Given the description of an element on the screen output the (x, y) to click on. 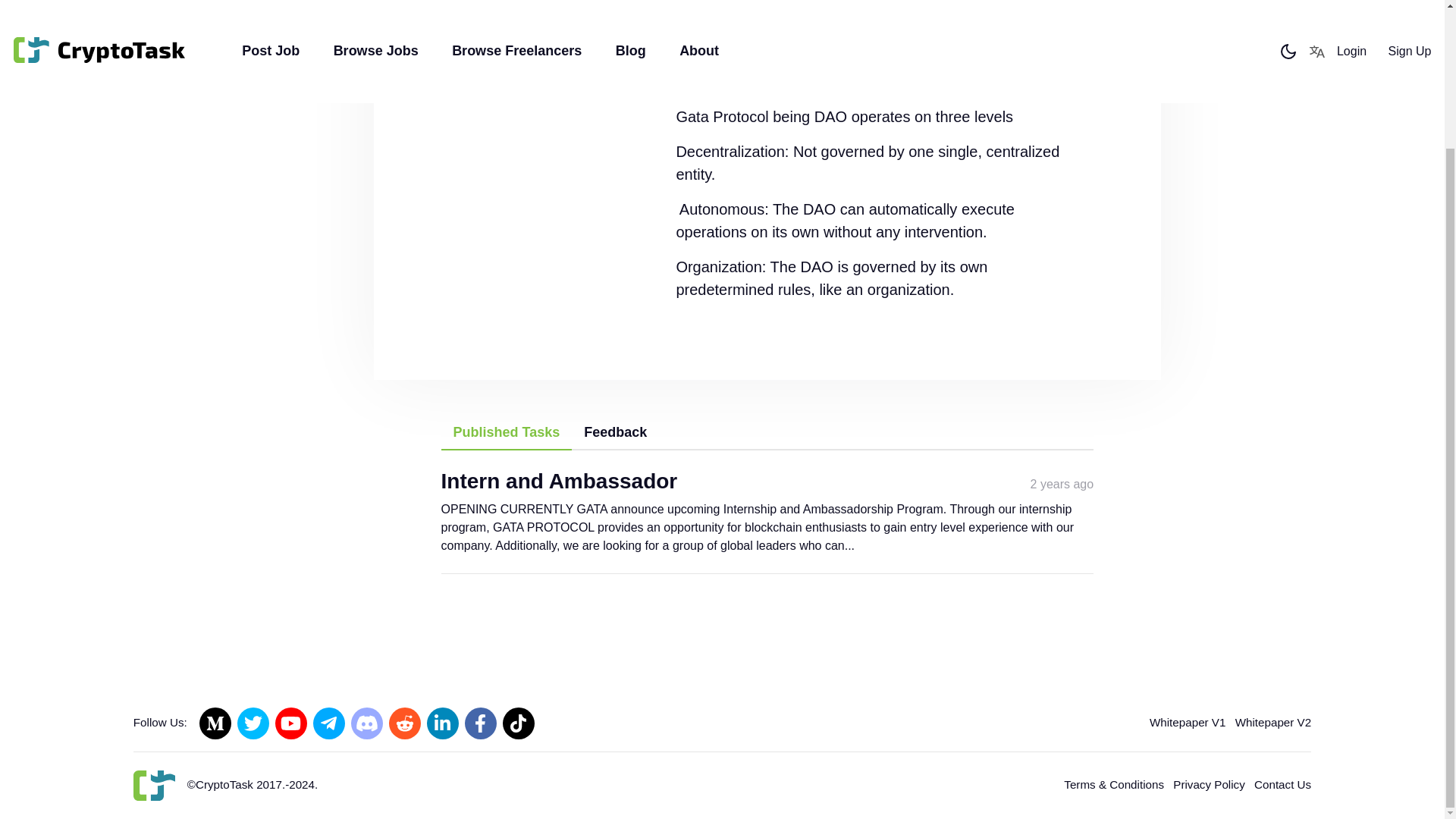
Tiktok (518, 723)
Intern and Ambassador (559, 481)
Telegram (329, 723)
Feedback (615, 432)
Privacy Policy (1208, 784)
Contact Us (1282, 784)
LinkedIn (442, 723)
YouTube (291, 723)
Reddit (404, 723)
Whitepaper V2 (1272, 721)
Twitter (253, 723)
Published Tasks (506, 433)
Whitepaper V1 (1187, 721)
Discord (366, 723)
Medium (215, 723)
